Given the description of an element on the screen output the (x, y) to click on. 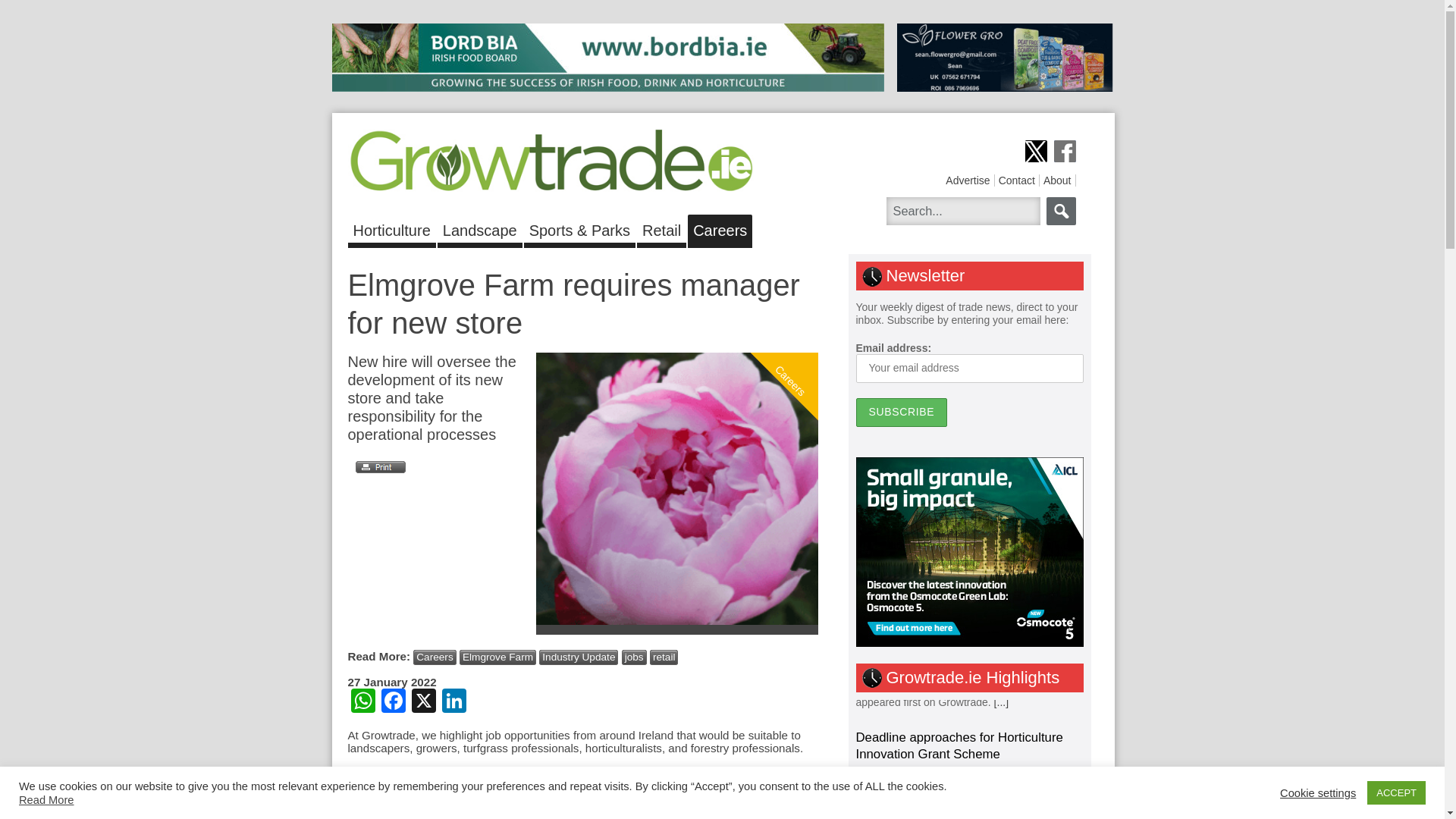
Industry Update (577, 657)
Print (375, 467)
About (1057, 180)
Elmgrove Farm (497, 657)
Retail (661, 228)
Like on Facebook (1064, 151)
Search... (962, 211)
Horticulture (391, 228)
Follow on Twitter (1035, 151)
LinkedIn (453, 702)
